Given the description of an element on the screen output the (x, y) to click on. 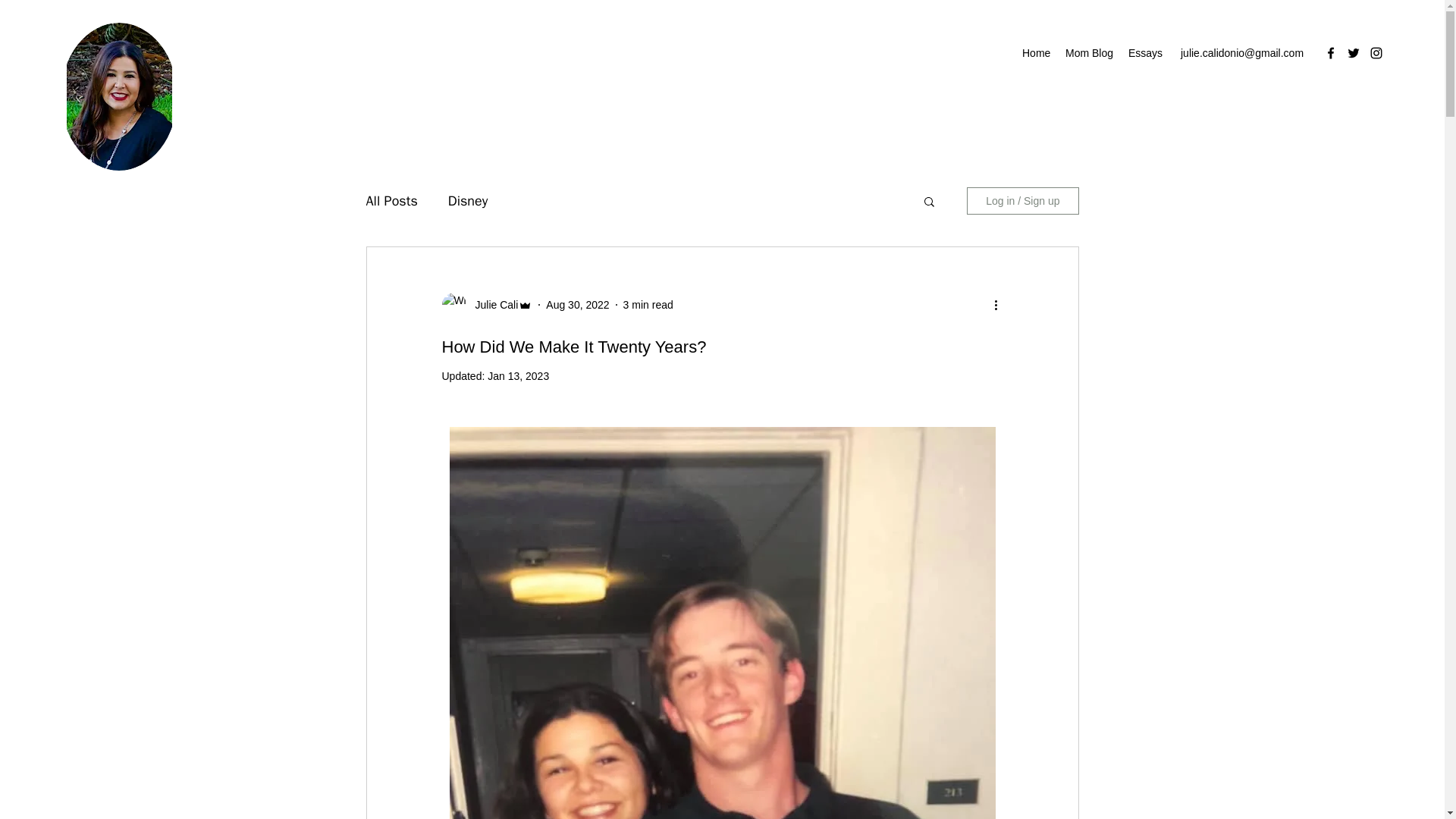
Jan 13, 2023 (517, 376)
Julie Cali (491, 304)
Disney (467, 200)
All Posts (390, 200)
Mom Blog (1089, 52)
3 min read (647, 304)
Essays (1145, 52)
Aug 30, 2022 (577, 304)
Home (1036, 52)
